Given the description of an element on the screen output the (x, y) to click on. 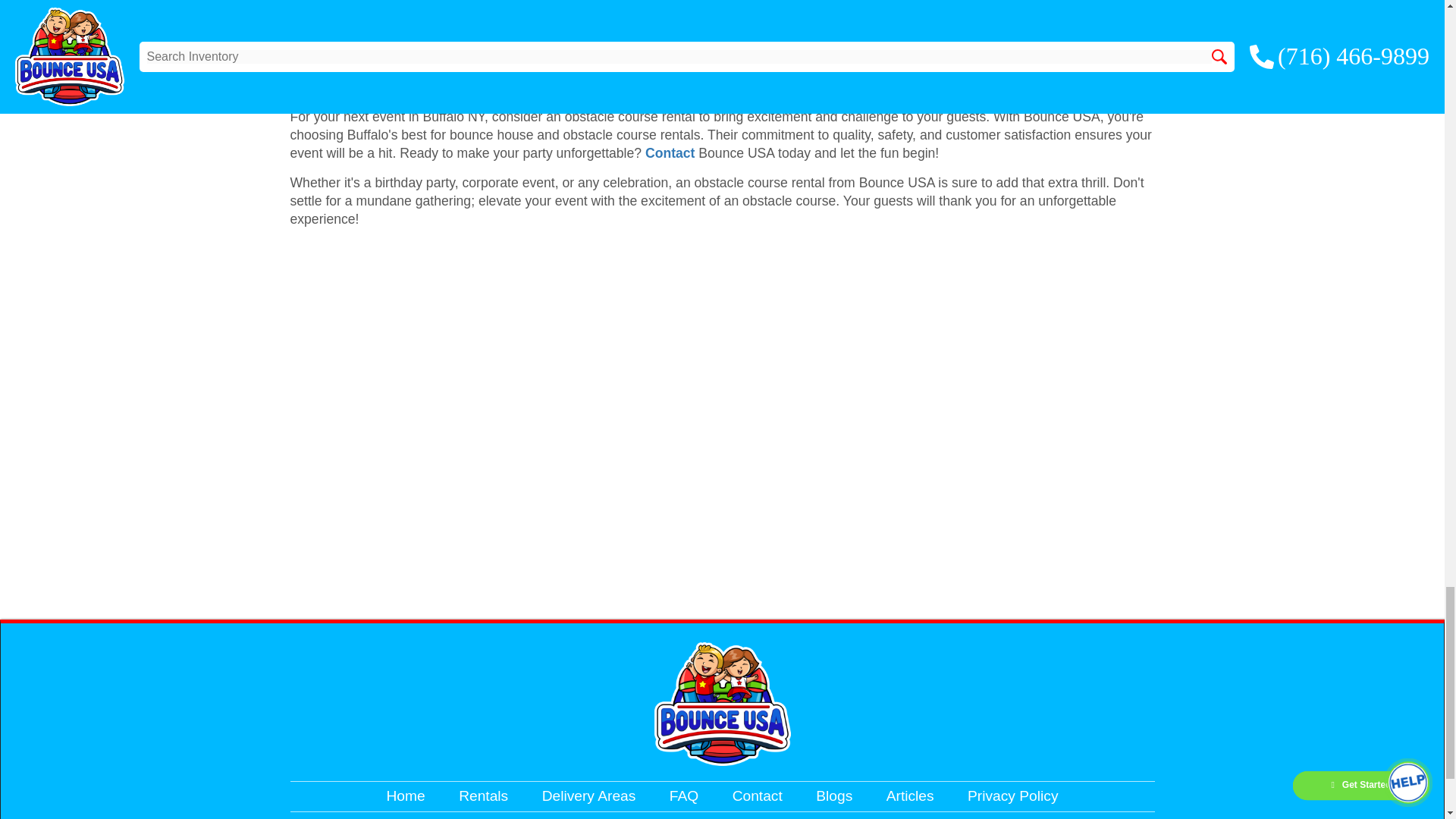
Rentals (483, 795)
Blogs (833, 795)
Contact (670, 152)
FAQ (683, 795)
Articles (910, 795)
Home (406, 795)
Delivery Areas (588, 795)
Privacy Policy (1013, 795)
Contact (757, 795)
